Given the description of an element on the screen output the (x, y) to click on. 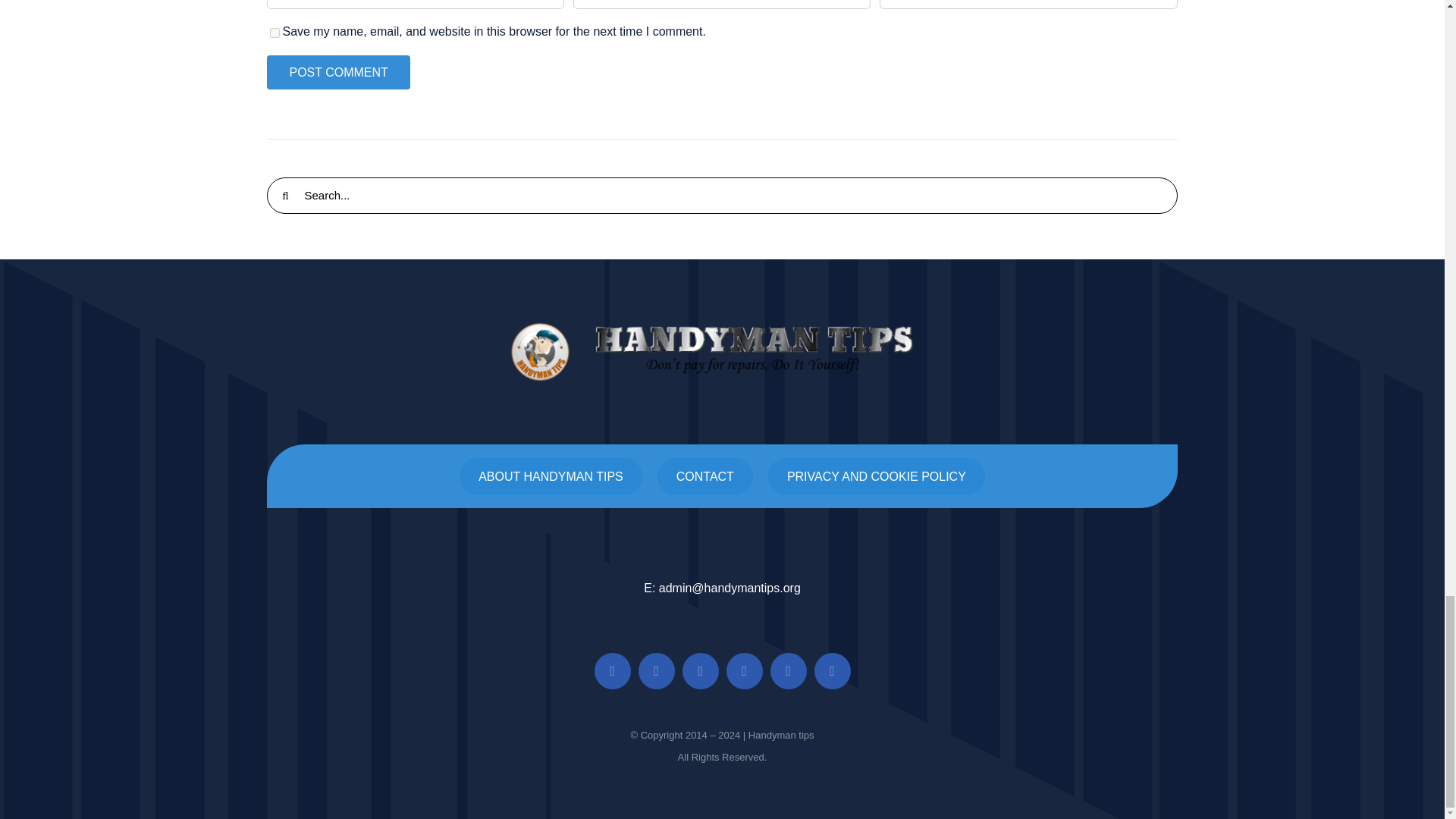
ABOUT HANDYMAN TIPS (551, 476)
Handyman tips header new (721, 352)
CONTACT (705, 476)
Post Comment (337, 72)
PRIVACY AND COOKIE POLICY (876, 476)
Post Comment (337, 72)
yes (274, 32)
